Given the description of an element on the screen output the (x, y) to click on. 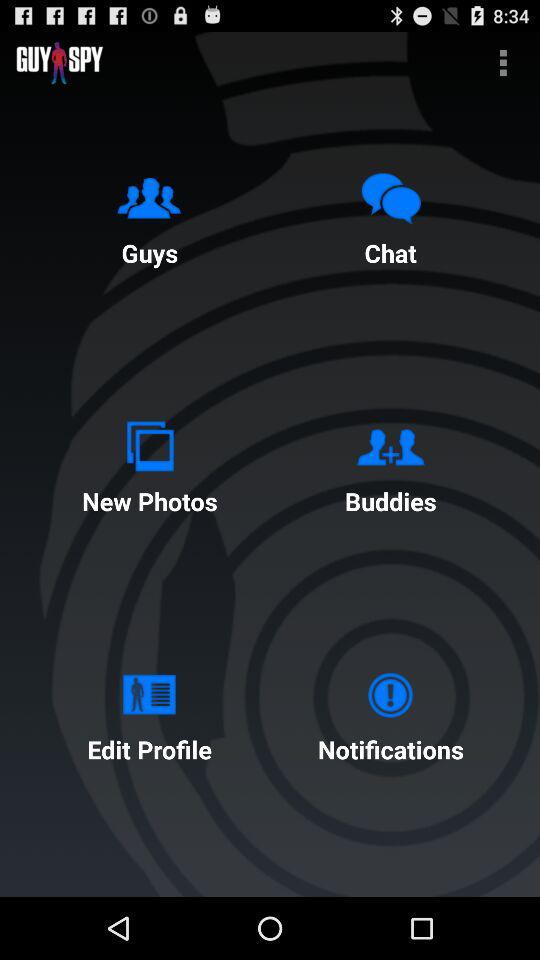
click the notifications button (390, 712)
